Given the description of an element on the screen output the (x, y) to click on. 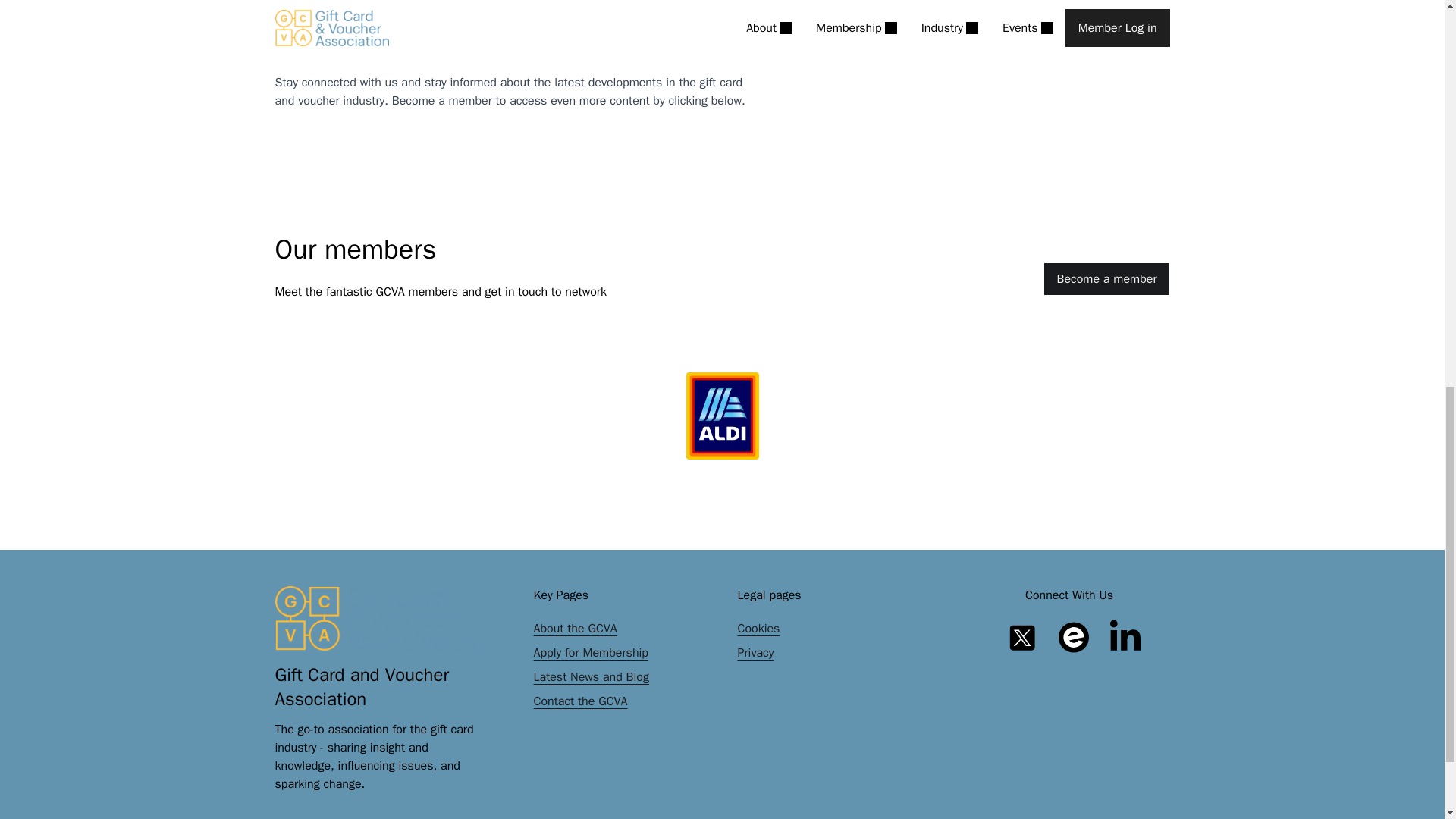
Become a member (1106, 278)
